Given the description of an element on the screen output the (x, y) to click on. 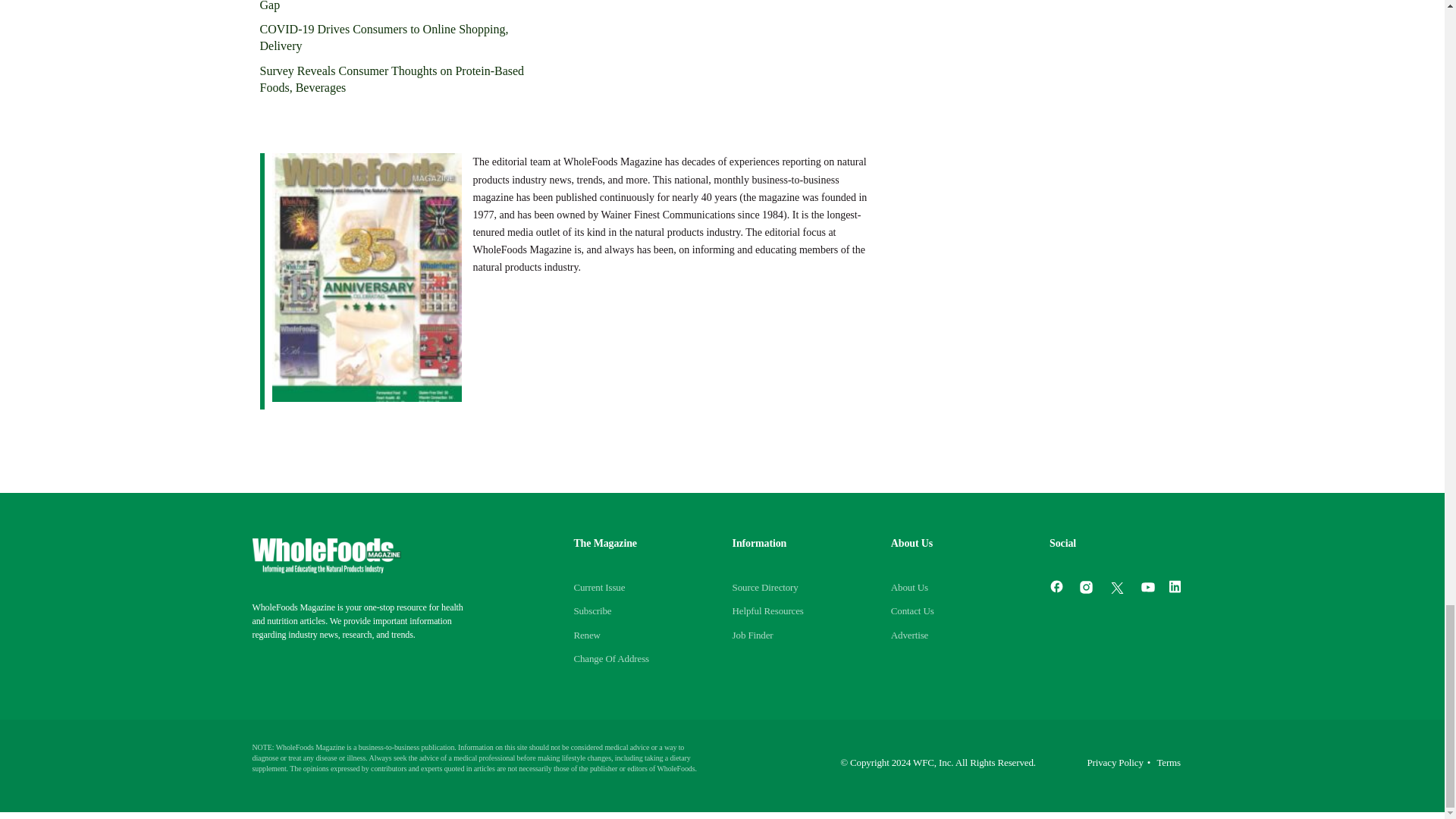
WholeFoods Magazine (325, 555)
